Given the description of an element on the screen output the (x, y) to click on. 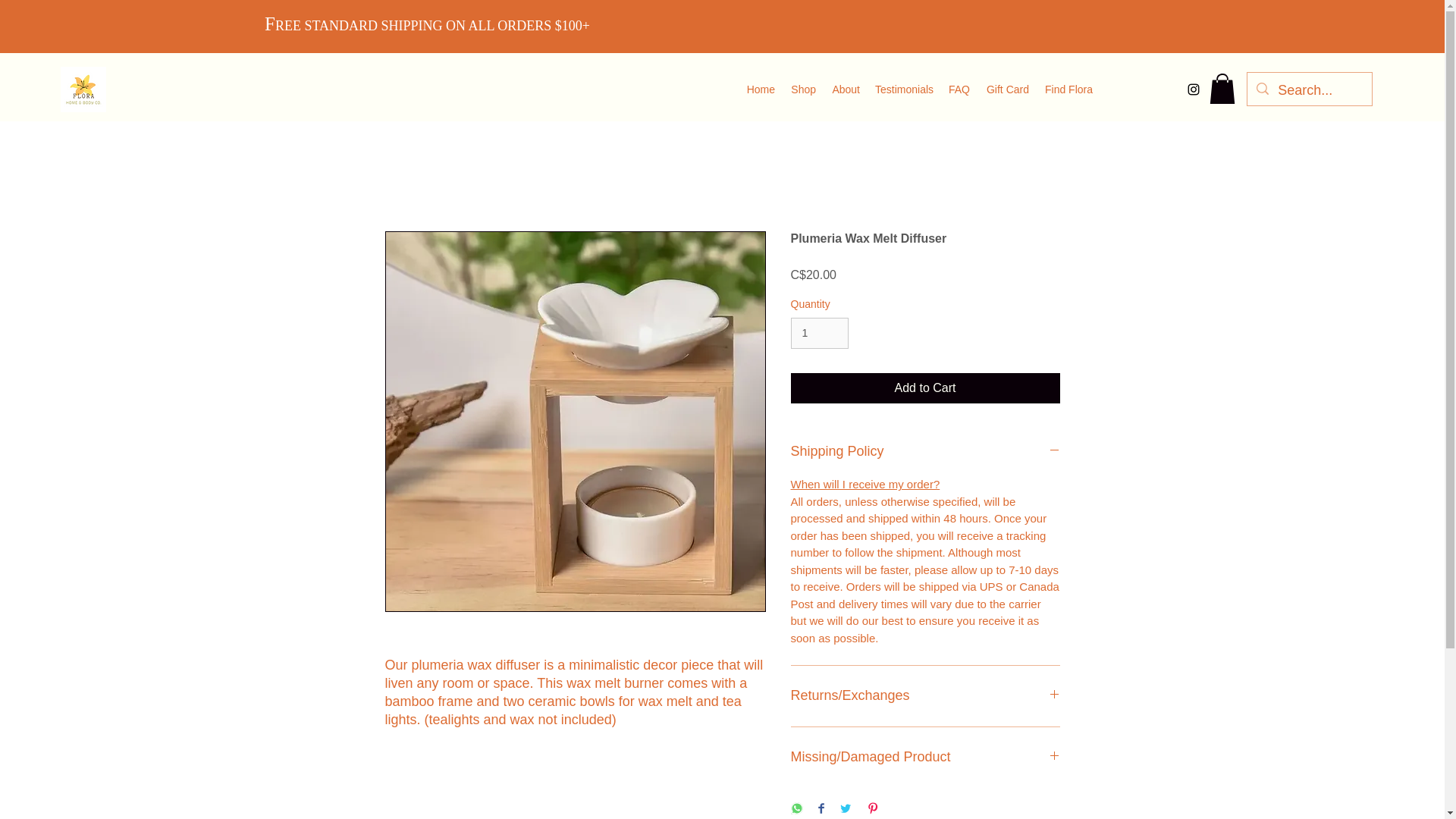
Shop (803, 87)
About (845, 87)
Home (760, 87)
1 (818, 332)
Gift Card (1006, 87)
Testimonials (903, 87)
Shipping Policy (924, 451)
FAQ (958, 87)
Add to Cart (924, 388)
